Given the description of an element on the screen output the (x, y) to click on. 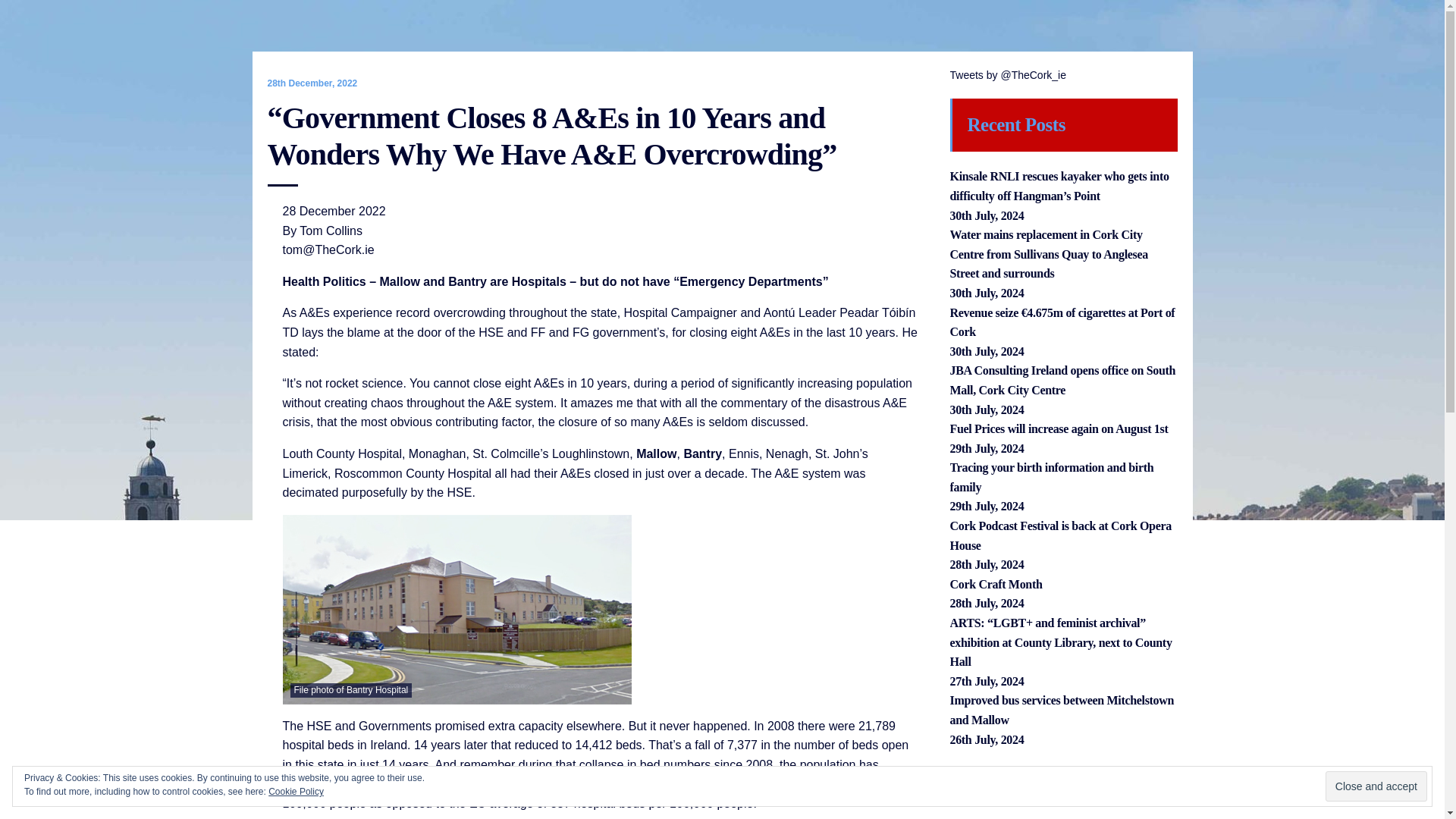
Close and accept (1375, 786)
